Given the description of an element on the screen output the (x, y) to click on. 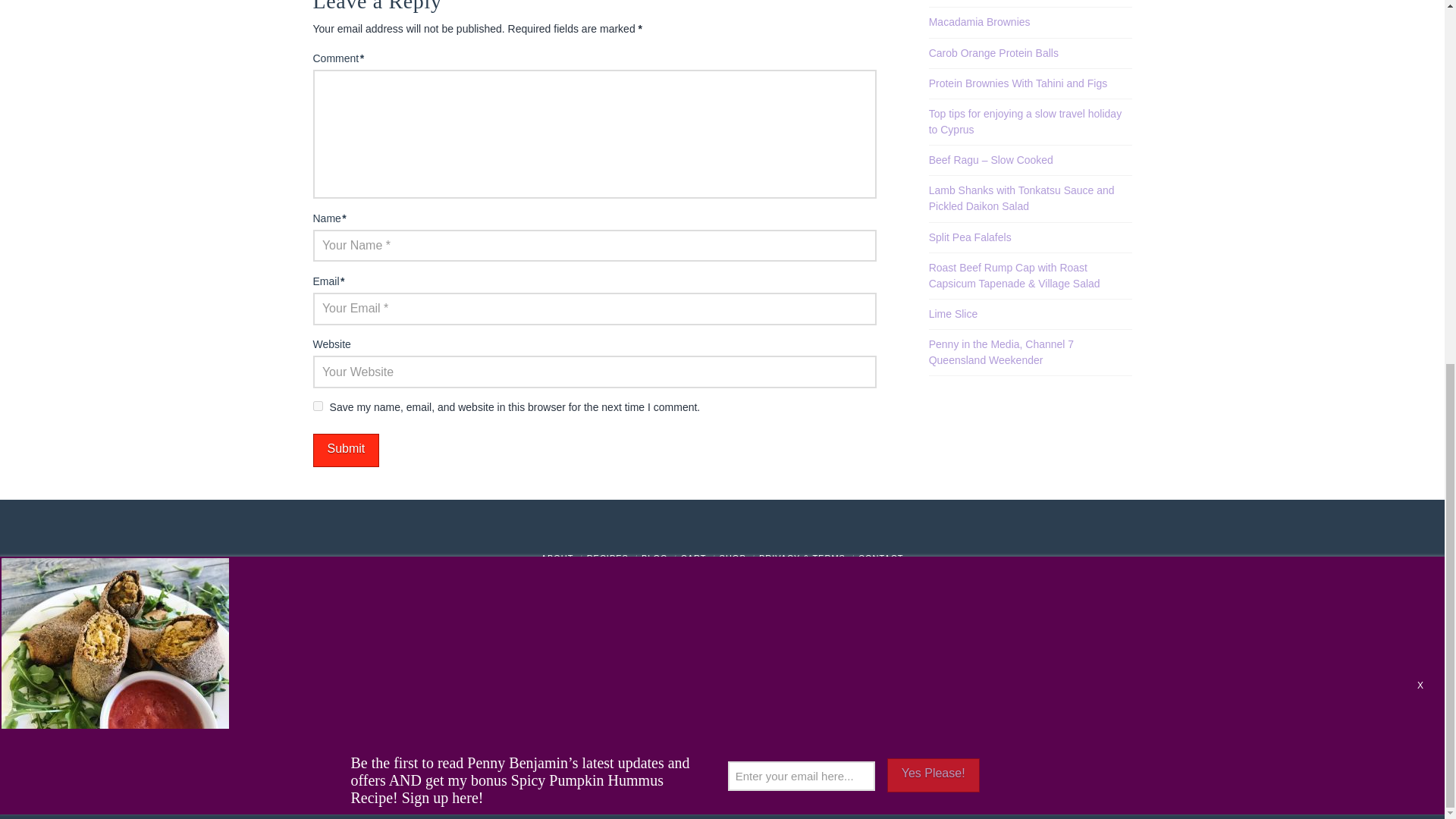
Submit (345, 450)
yes (317, 406)
Yes Please! (932, 123)
